Given the description of an element on the screen output the (x, y) to click on. 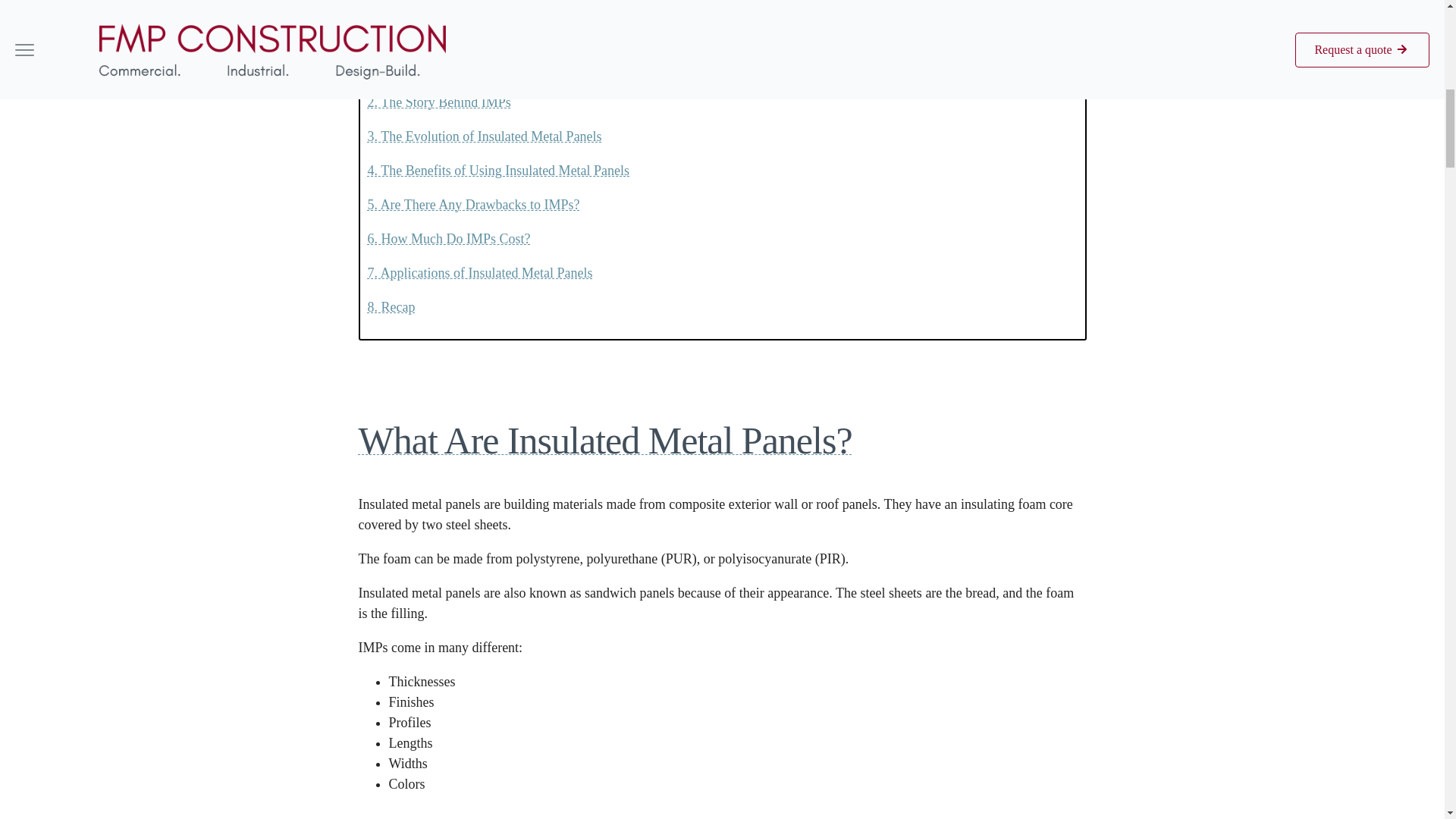
5. Are There Any Drawbacks to IMPs? (472, 204)
6. How Much Do IMPs Cost? (447, 238)
4. The Benefits of Using Insulated Metal Panels (497, 170)
3. The Evolution of Insulated Metal Panels (483, 136)
8. Recap (390, 306)
1. What Are Insulated Metal Panels? (466, 68)
2. The Story Behind IMPs (438, 102)
7. Applications of Insulated Metal Panels (479, 272)
What Are Insulated Metal Panels? (722, 440)
